Given the description of an element on the screen output the (x, y) to click on. 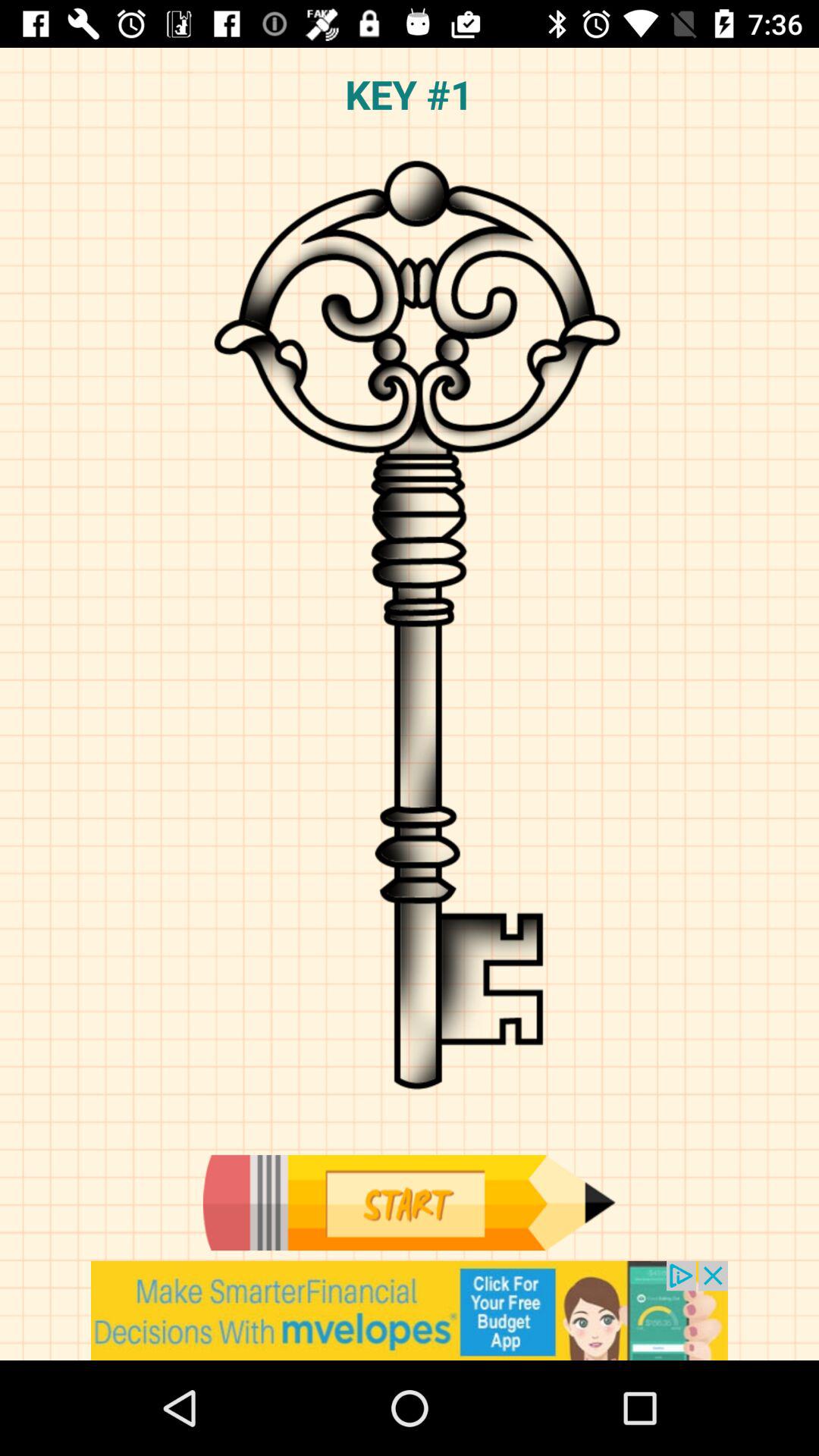
next level proces (409, 1202)
